Given the description of an element on the screen output the (x, y) to click on. 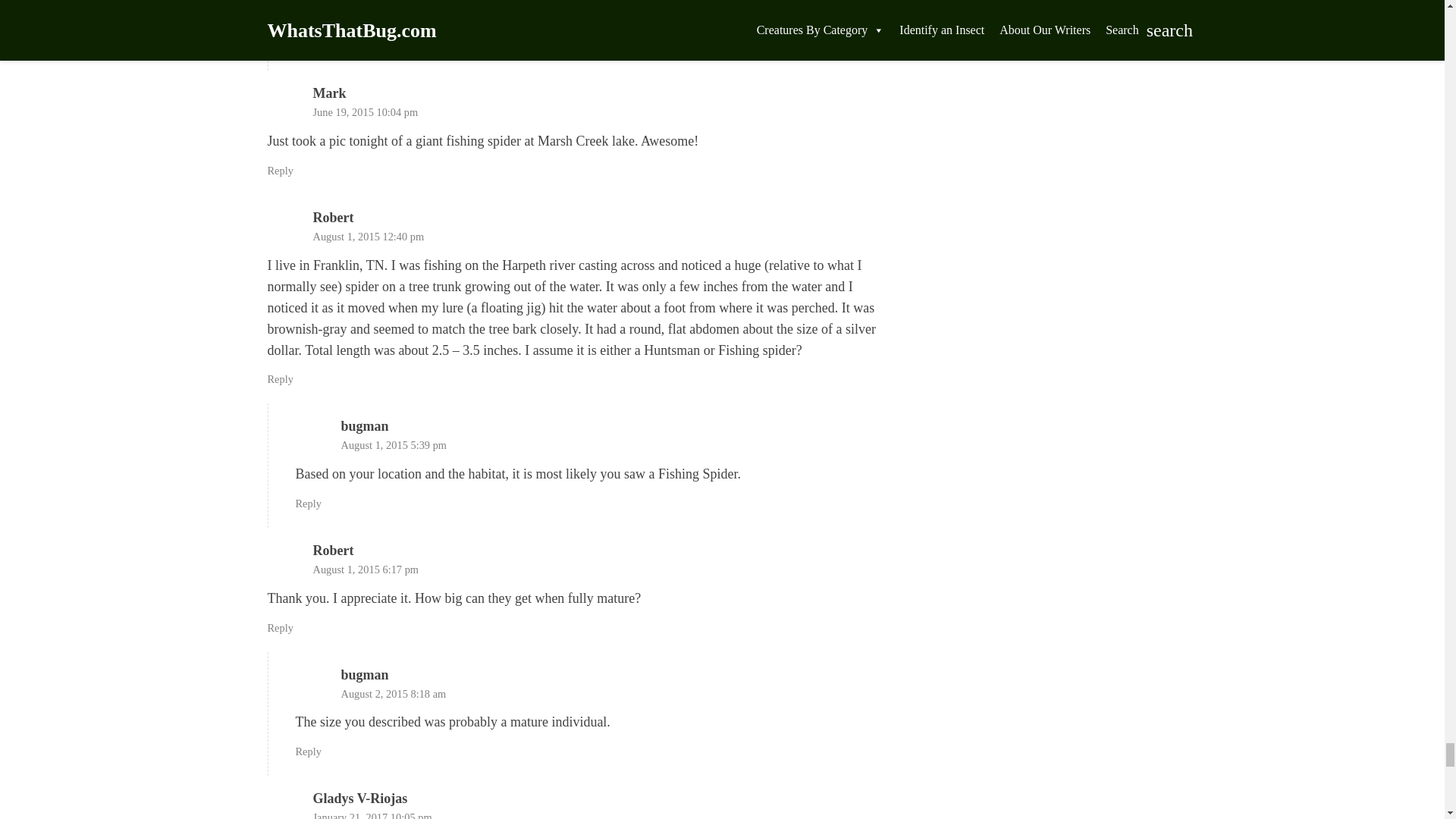
August 1, 2015 5:39 pm (393, 444)
January 21, 2017 10:05 pm (371, 815)
June 19, 2015 10:04 pm (365, 111)
August 1, 2015 12:40 pm (368, 236)
August 2, 2015 8:18 am (393, 693)
August 1, 2015 6:17 pm (366, 569)
